Given the description of an element on the screen output the (x, y) to click on. 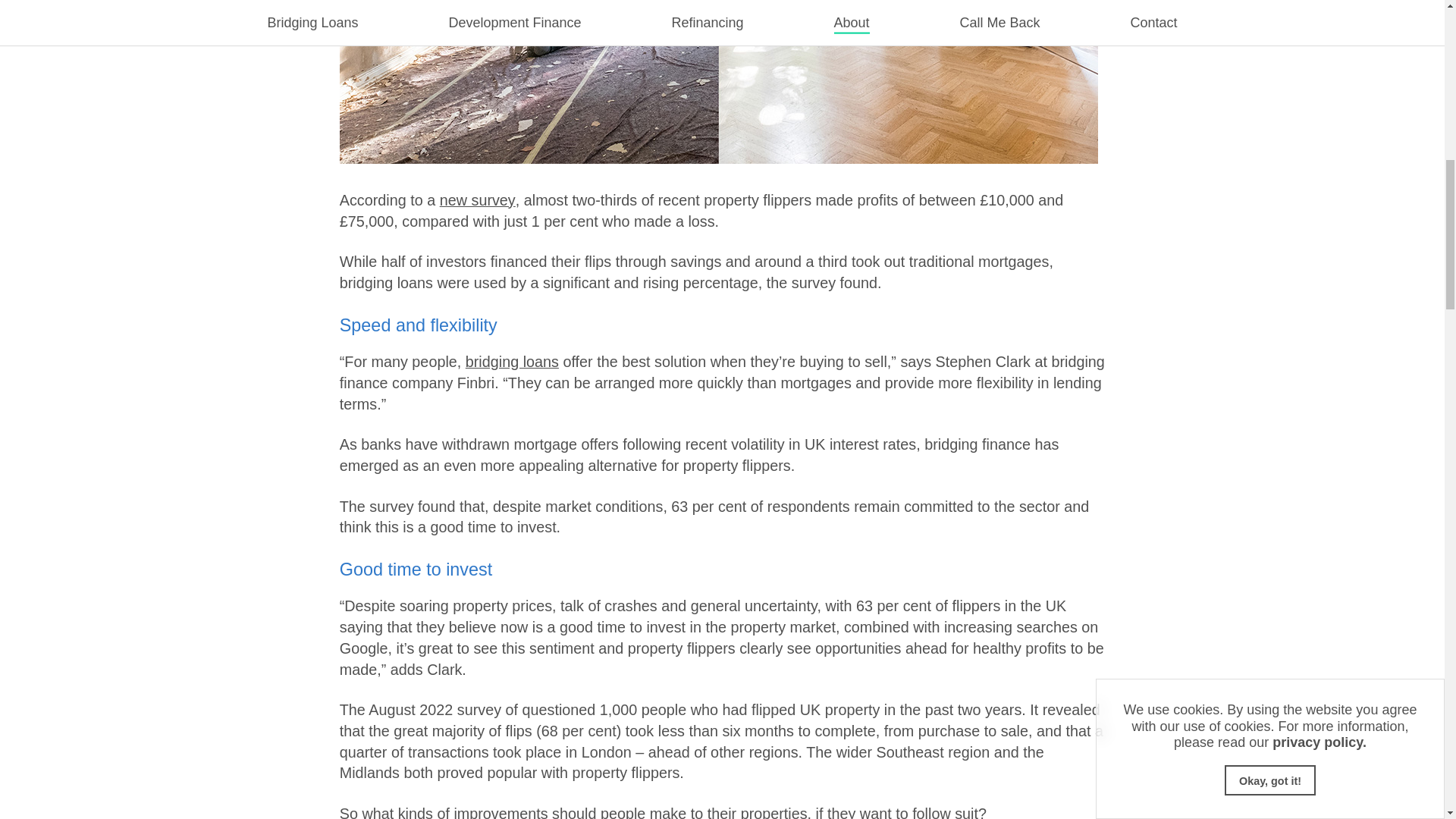
new survey (477, 199)
bridging loans (512, 361)
new survey (477, 199)
bridging loans (512, 361)
